Given the description of an element on the screen output the (x, y) to click on. 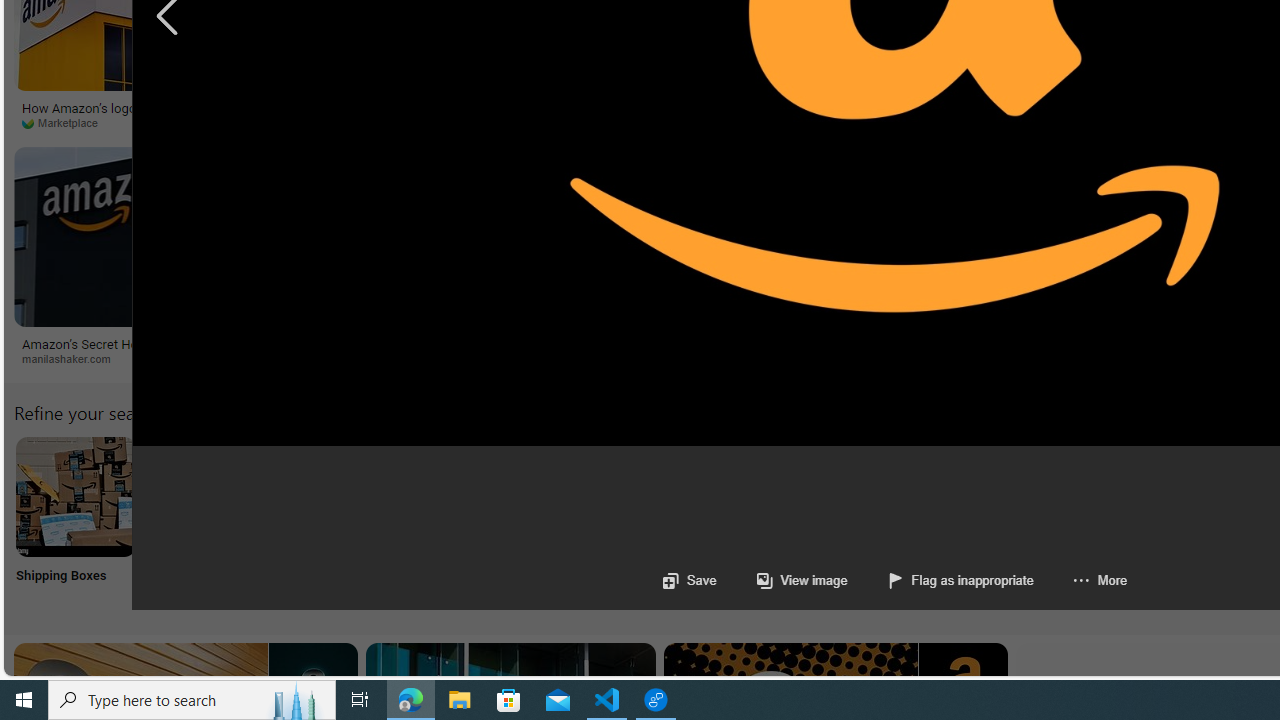
Amazon Online Shopping Search Online Shopping Search (207, 521)
Long Island Press (408, 121)
Log into My Account (472, 521)
manilashaker.com (73, 358)
Marketplace (66, 121)
View image (801, 580)
protothema.gr (821, 359)
manilashaker.com (174, 359)
protothema.gr (719, 358)
Marketplace (173, 123)
Amazon (701, 343)
